Given the description of an element on the screen output the (x, y) to click on. 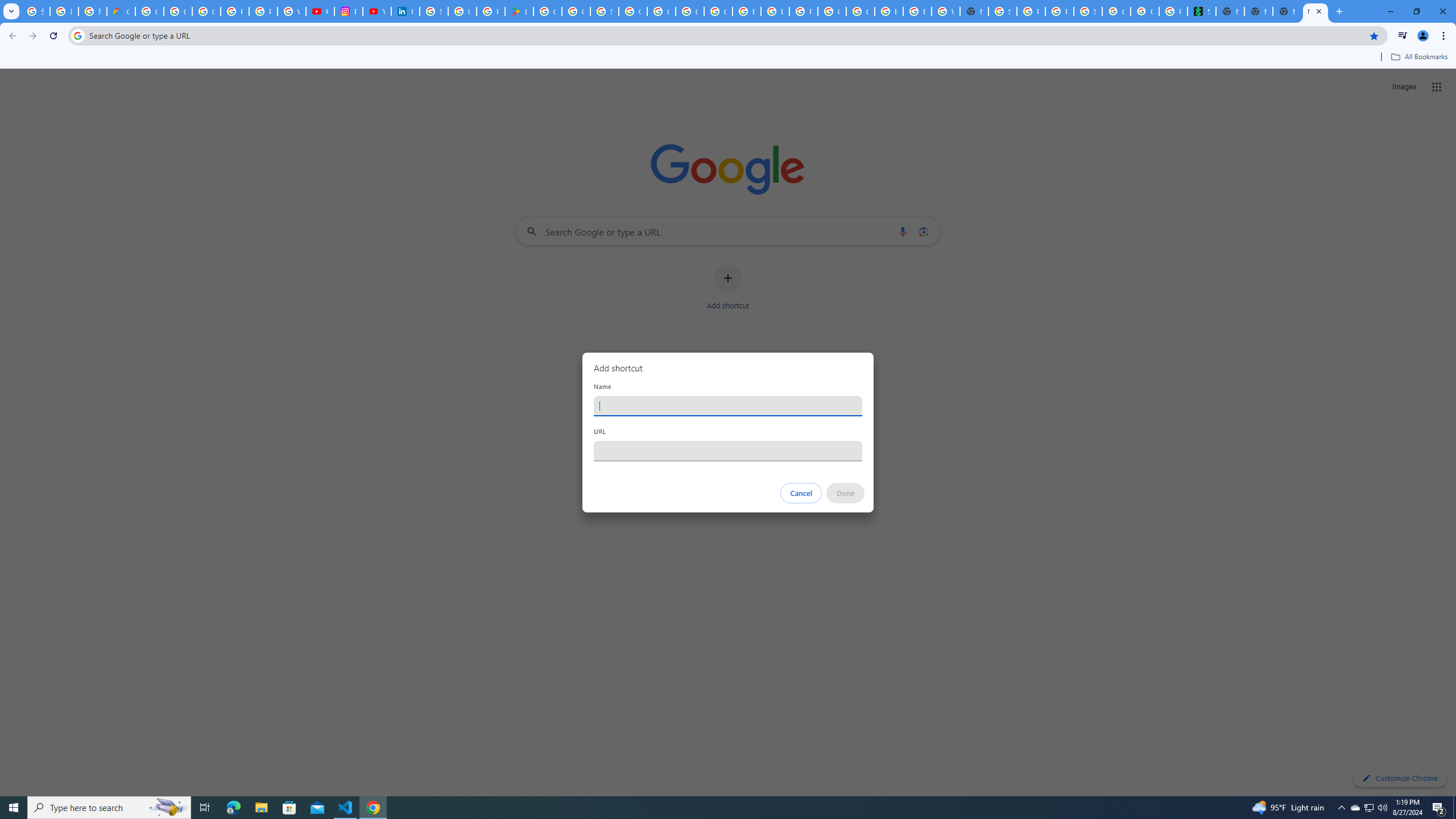
Last Shelter: Survival - Apps on Google Play (518, 11)
Google Cloud Platform (860, 11)
Google Cloud Platform (831, 11)
Cancel (801, 493)
Bookmarks (728, 58)
Google Workspace - Specific Terms (575, 11)
